Given the description of an element on the screen output the (x, y) to click on. 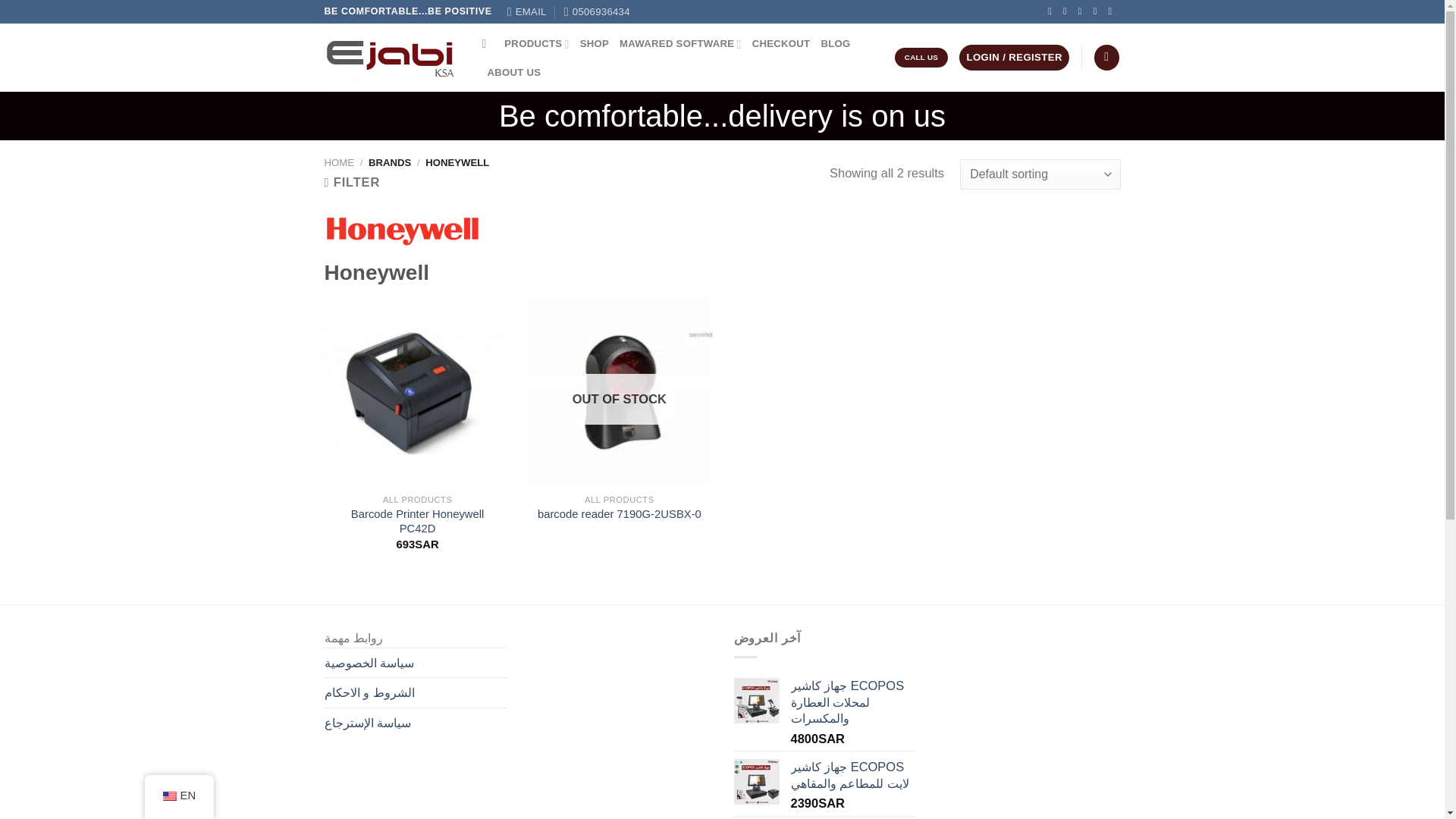
0506936434 (597, 11)
Cart (1106, 57)
PRODUCTS (536, 43)
EMAIL (526, 11)
0506936434 (597, 11)
